Given the description of an element on the screen output the (x, y) to click on. 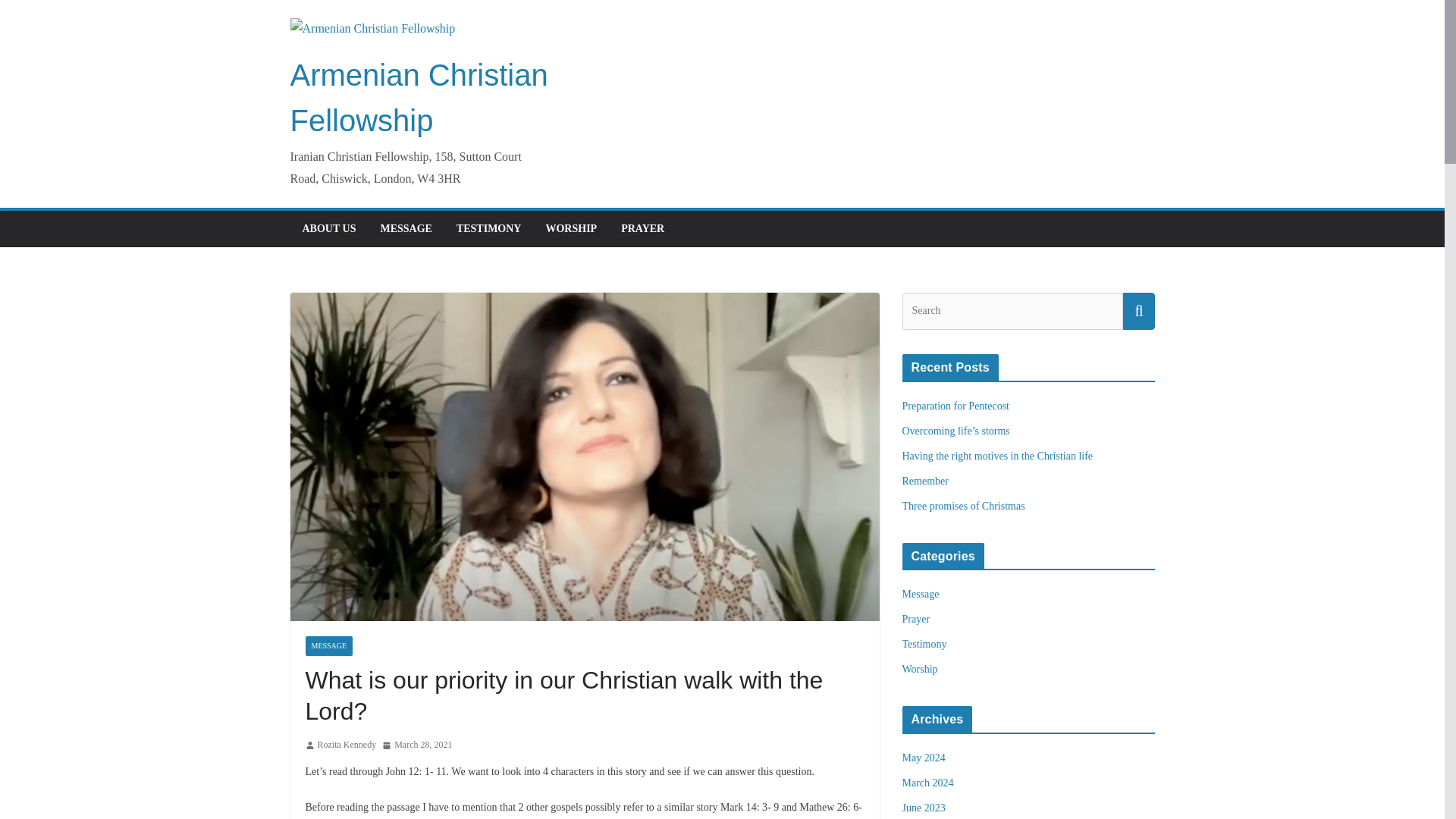
March 2024 (927, 782)
Preparation for Pentecost (956, 405)
Prayer (916, 618)
WORSHIP (570, 228)
March 28, 2021 (416, 745)
Rozita Kennedy (346, 745)
Worship (919, 668)
TESTIMONY (489, 228)
Having the right motives in the Christian life (997, 455)
Message (920, 593)
May 2024 (923, 757)
Remember (925, 480)
Armenian Christian Fellowship (418, 97)
Three promises of Christmas (963, 505)
Rozita Kennedy (346, 745)
